Given the description of an element on the screen output the (x, y) to click on. 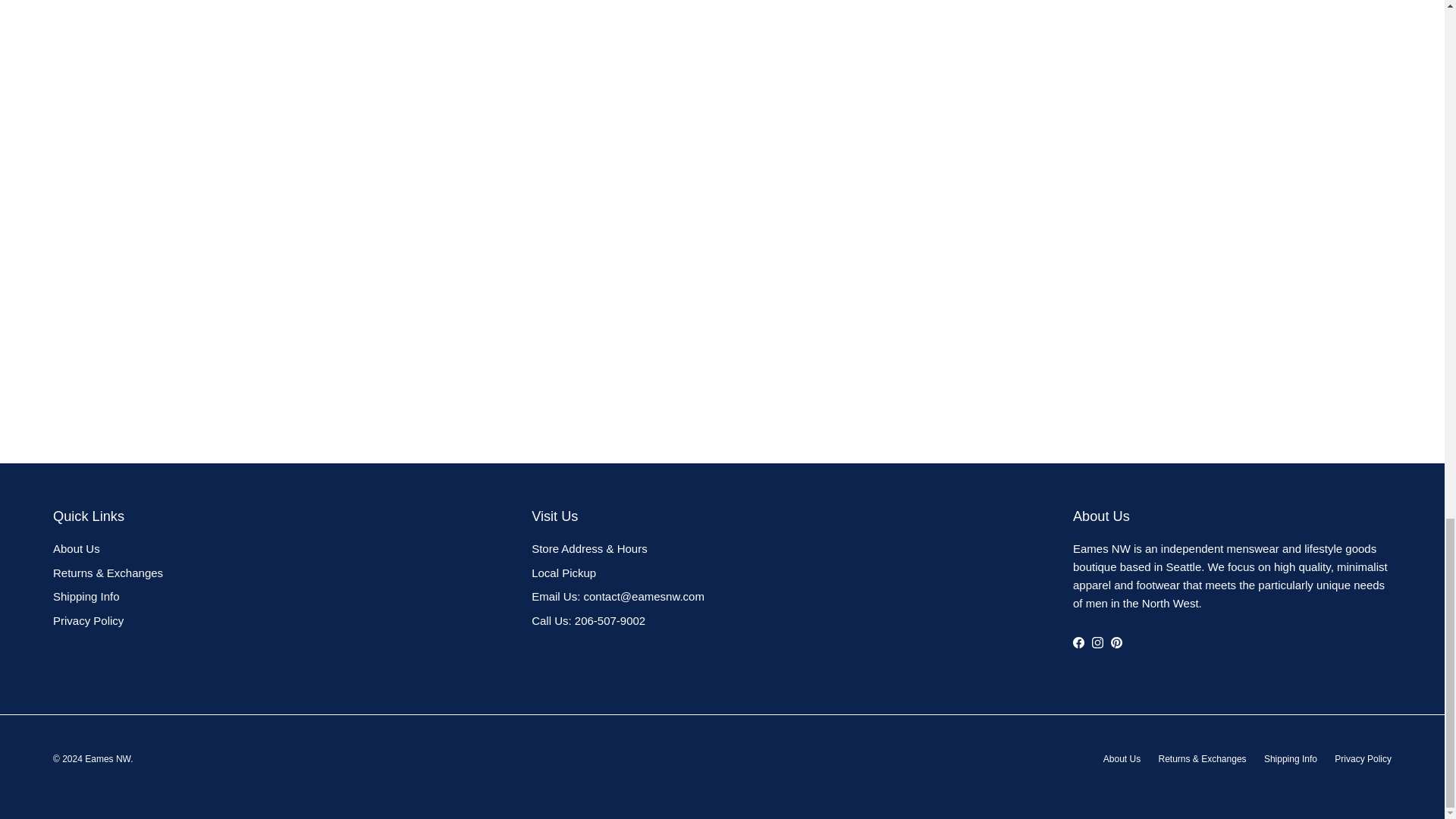
Facebook (691, 786)
Pinterest (721, 786)
Instagram (752, 786)
